Given the description of an element on the screen output the (x, y) to click on. 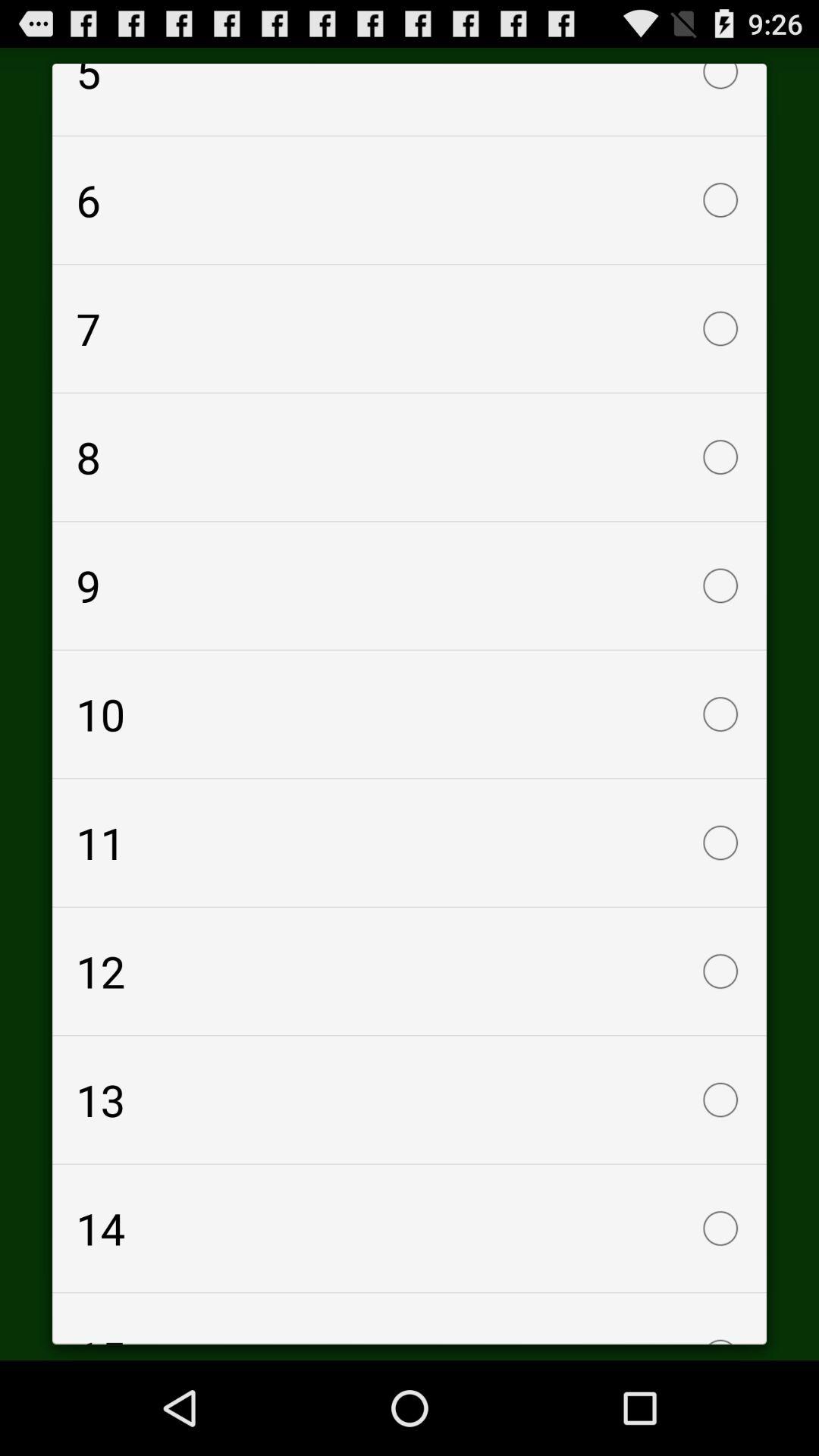
turn off item below 12 icon (409, 1099)
